Given the description of an element on the screen output the (x, y) to click on. 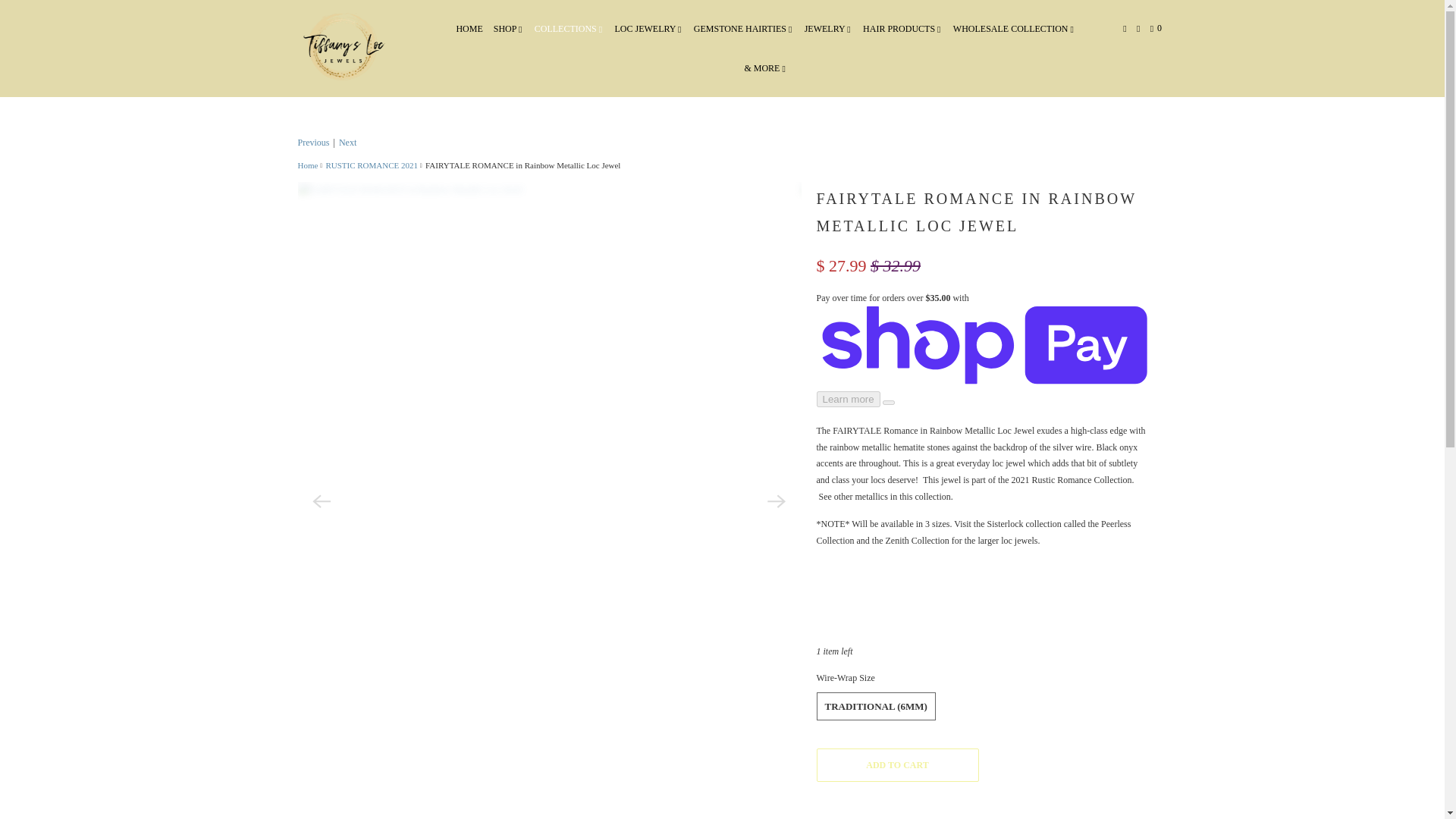
RUSTIC ROMANCE 2021 (370, 164)
TIFFANY'S LOC JEWELS (342, 48)
Previous (313, 143)
Next (347, 143)
TIFFANY'S LOC JEWELS (307, 164)
